Given the description of an element on the screen output the (x, y) to click on. 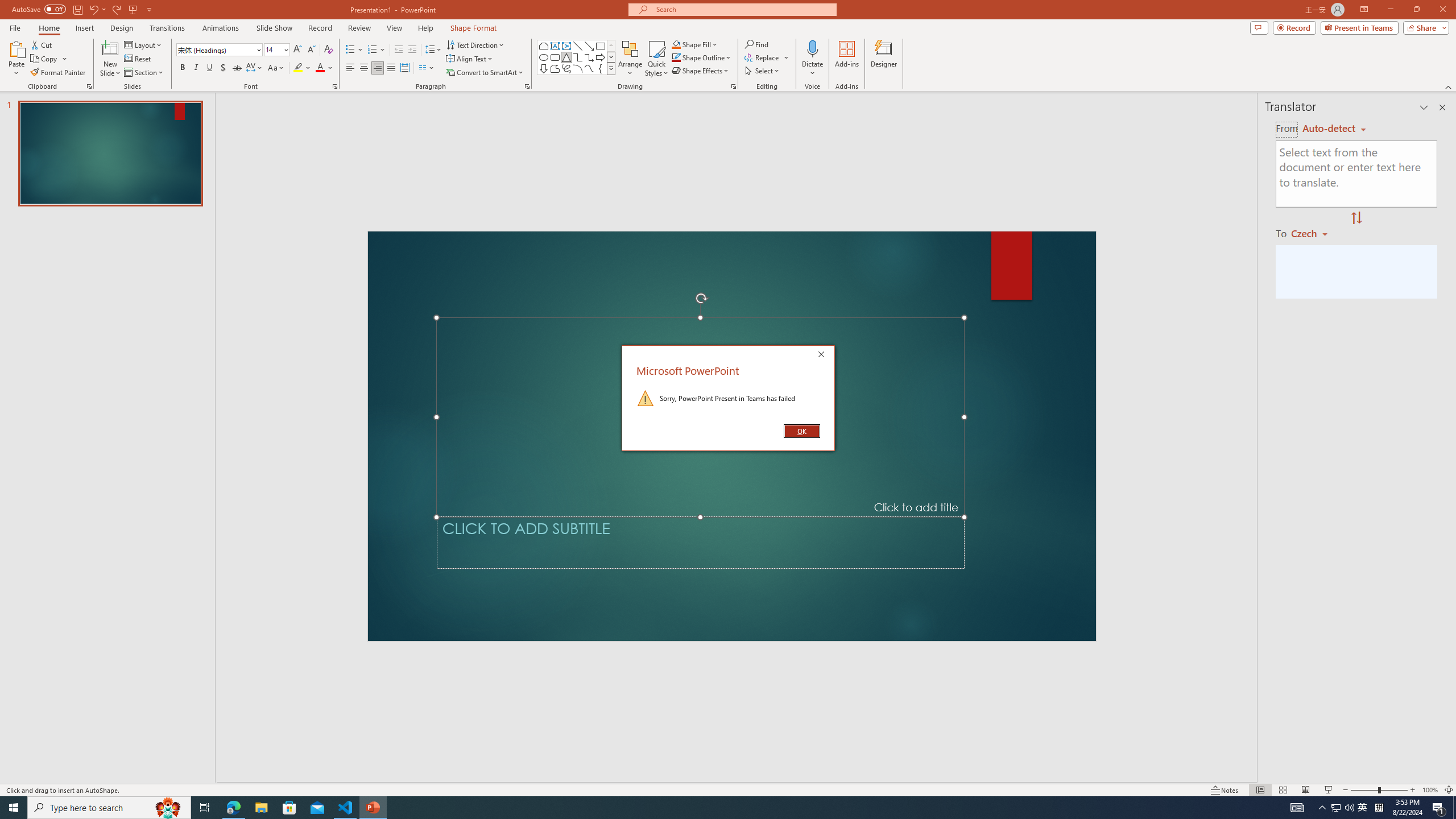
Czech (1313, 232)
